Given the description of an element on the screen output the (x, y) to click on. 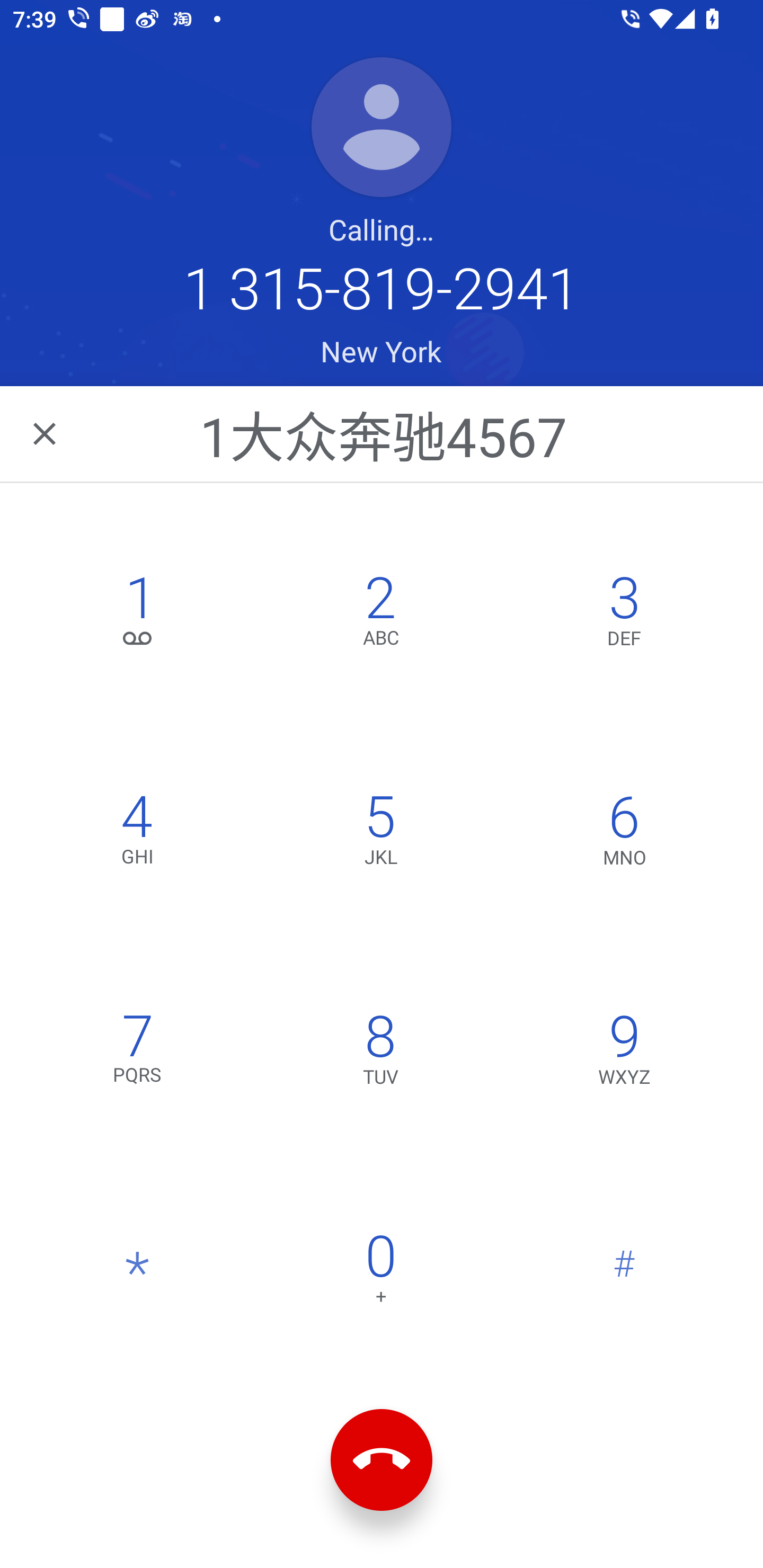
1大众奔驰4567 (382, 433)
Navigate back (45, 433)
1, 1 (137, 614)
2,ABC 2 ABC (380, 614)
3,DEF 3 DEF (624, 614)
4,GHI 4 GHI (137, 833)
5,JKL 5 JKL (380, 833)
6,MNO 6 MNO (624, 833)
7,PQRS 7 PQRS (137, 1053)
8,TUV 8 TUV (380, 1053)
9,WXYZ 9 WXYZ (624, 1053)
* (137, 1272)
0 0 + (380, 1272)
# (624, 1272)
End call (381, 1460)
